Given the description of an element on the screen output the (x, y) to click on. 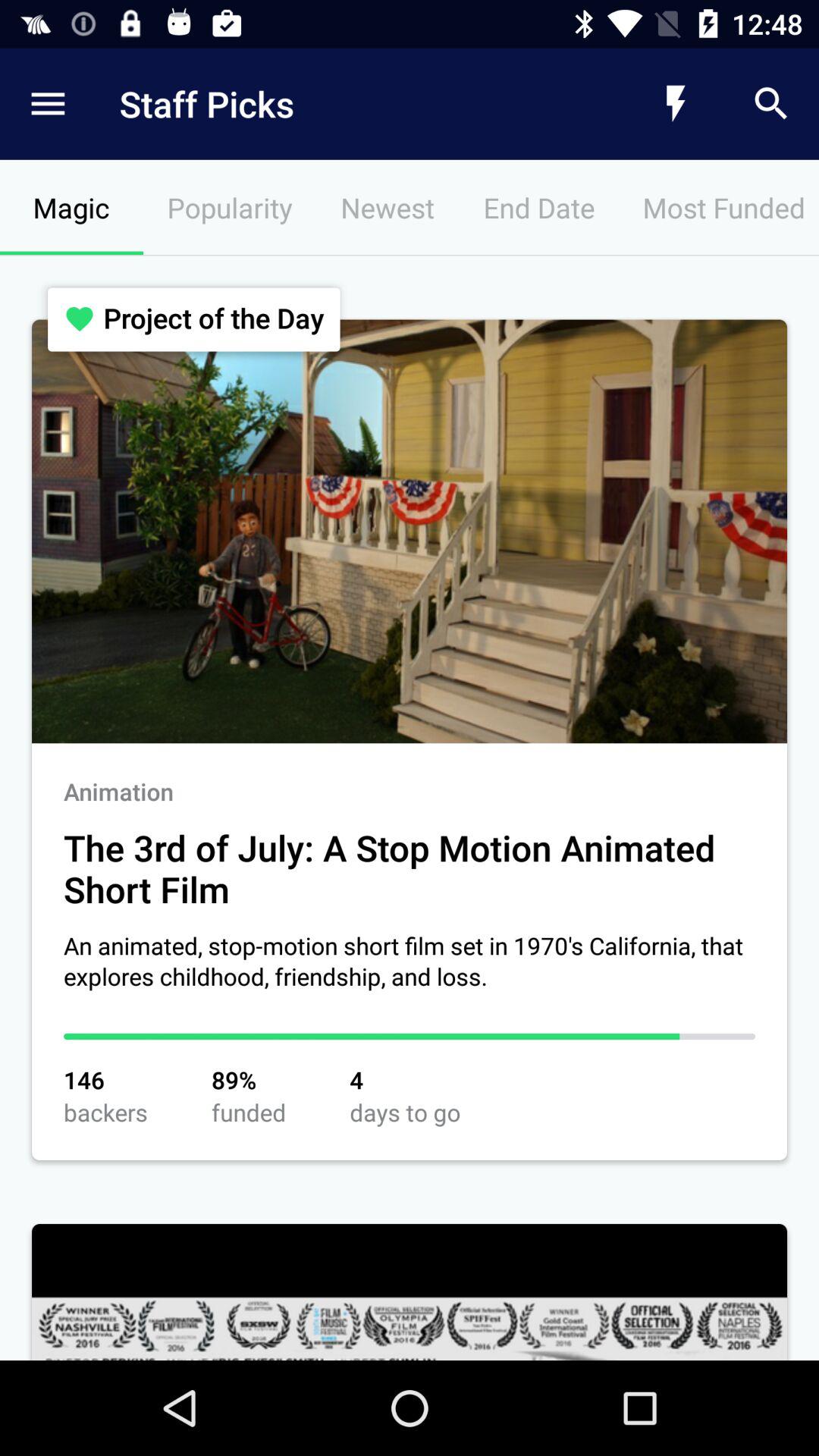
select icon next to staff picks (675, 103)
